Given the description of an element on the screen output the (x, y) to click on. 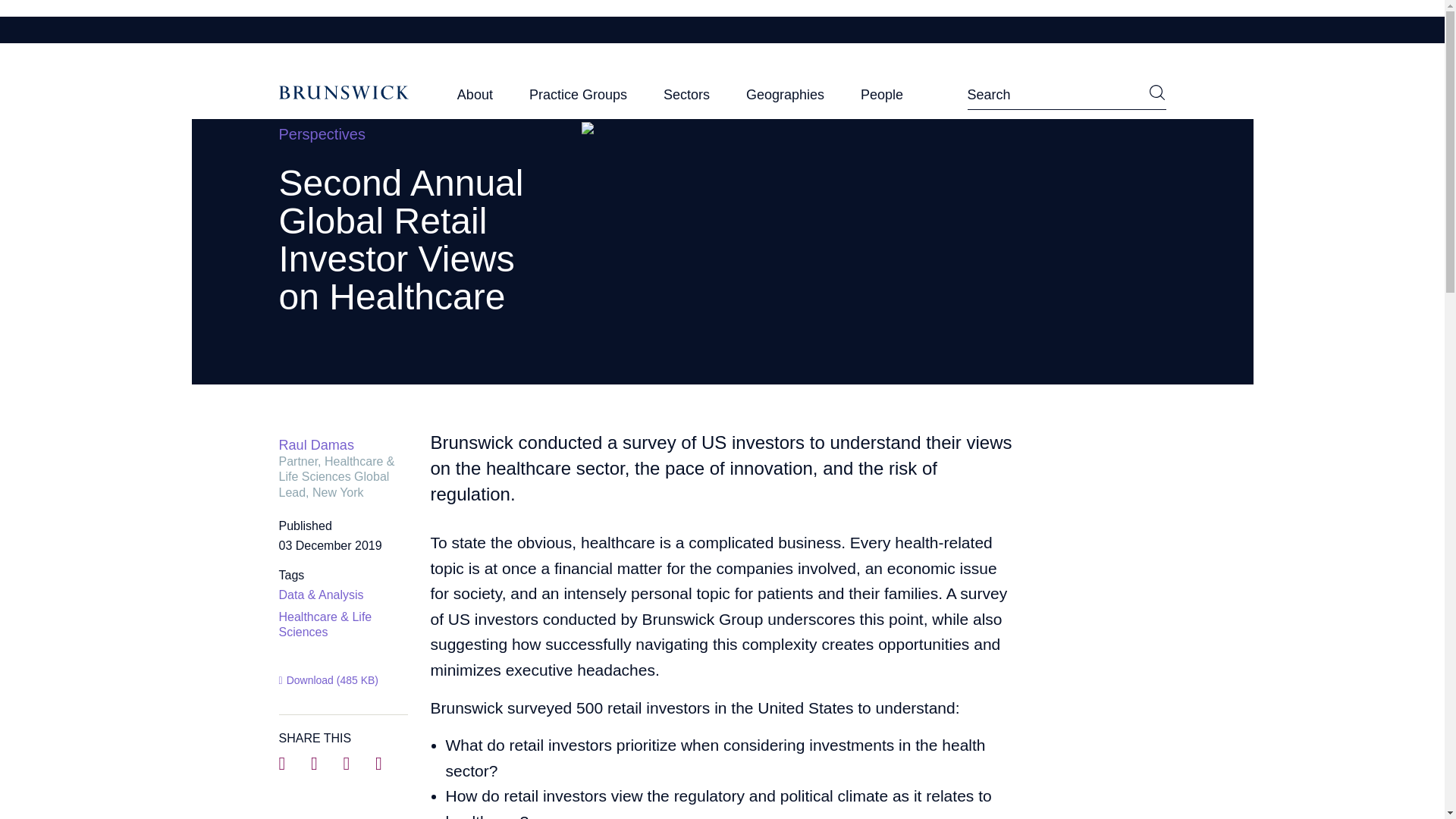
Sectors (686, 97)
About (474, 97)
About (474, 97)
Practice Groups (577, 97)
Practice Groups (577, 97)
